Given the description of an element on the screen output the (x, y) to click on. 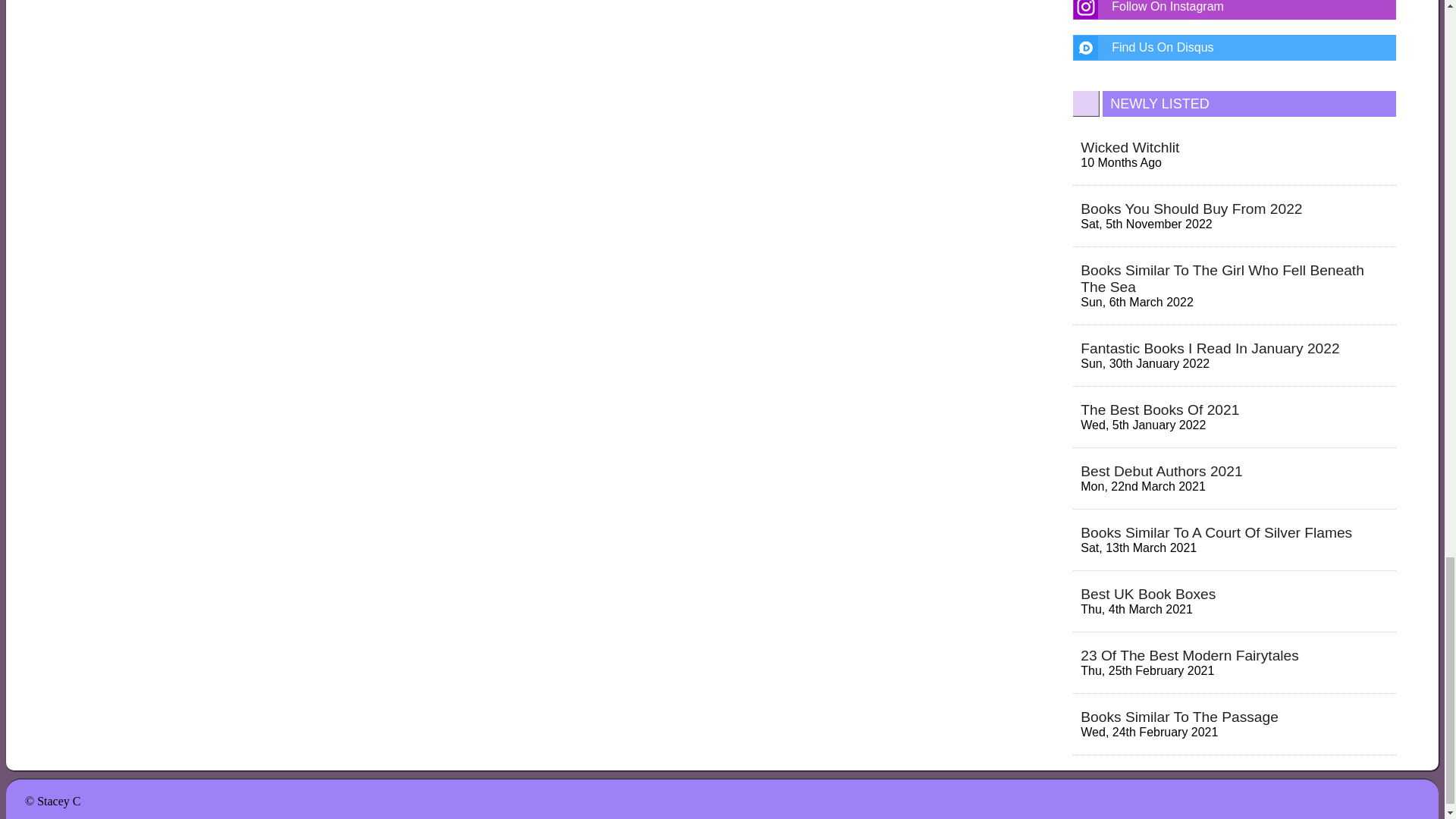
Follow On Instagram (1234, 9)
Books Similar To The Passage (1179, 716)
23 Of The Best Modern Fairytales (1189, 655)
Best Debut Authors 2021 (1160, 471)
Books You Should Buy From 2022 (1190, 208)
The Best Books Of 2021 (1159, 409)
Find Us On Disqus (1234, 47)
Books Similar To A Court Of Silver Flames (1216, 532)
Wicked Witchlit (1129, 147)
Fantastic Books I Read In January 2022 (1209, 348)
Books Similar To The Girl Who Fell Beneath The Sea (1222, 278)
Best UK Book Boxes (1147, 593)
